Given the description of an element on the screen output the (x, y) to click on. 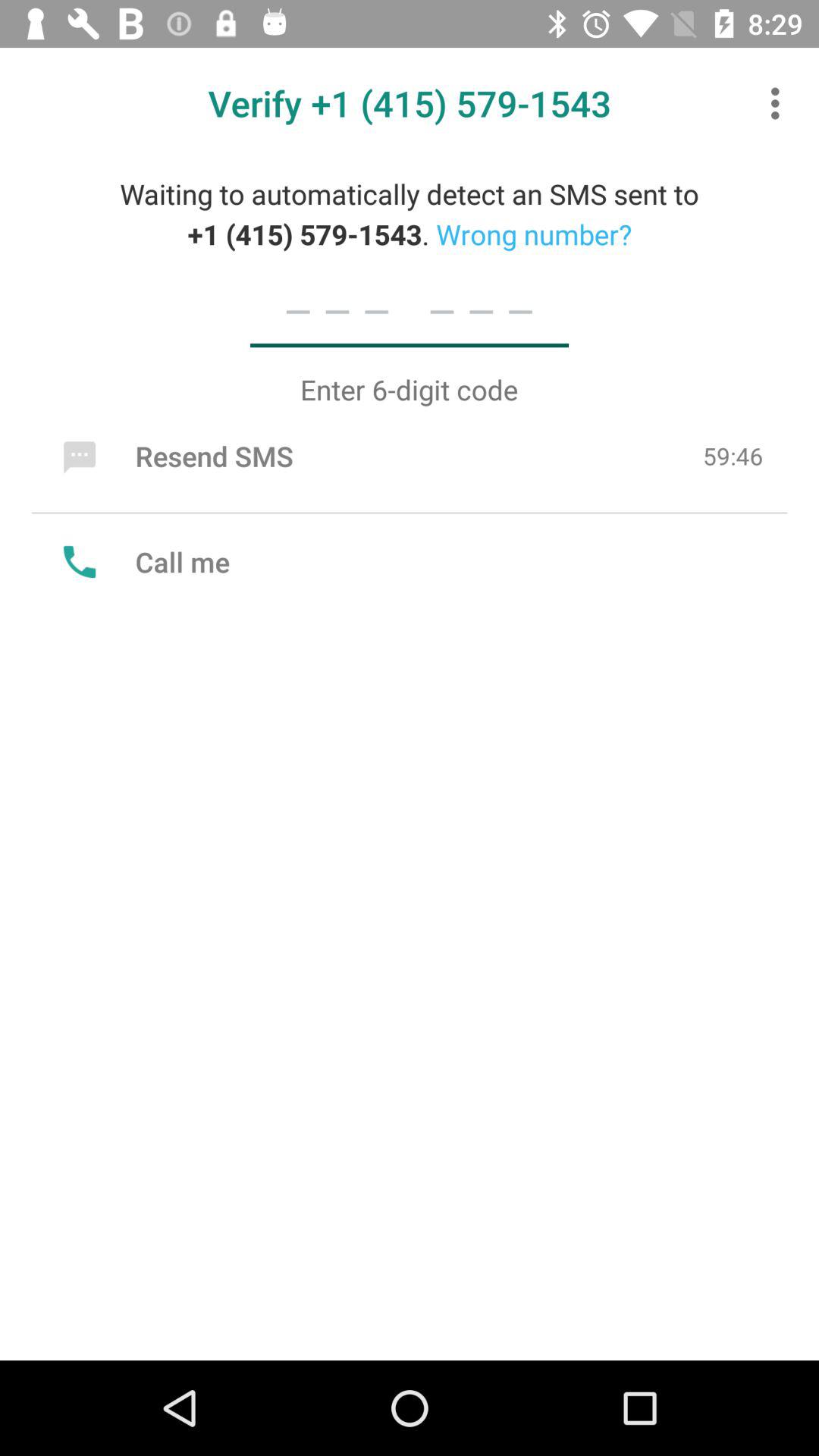
swipe to waiting to automatically item (409, 214)
